Given the description of an element on the screen output the (x, y) to click on. 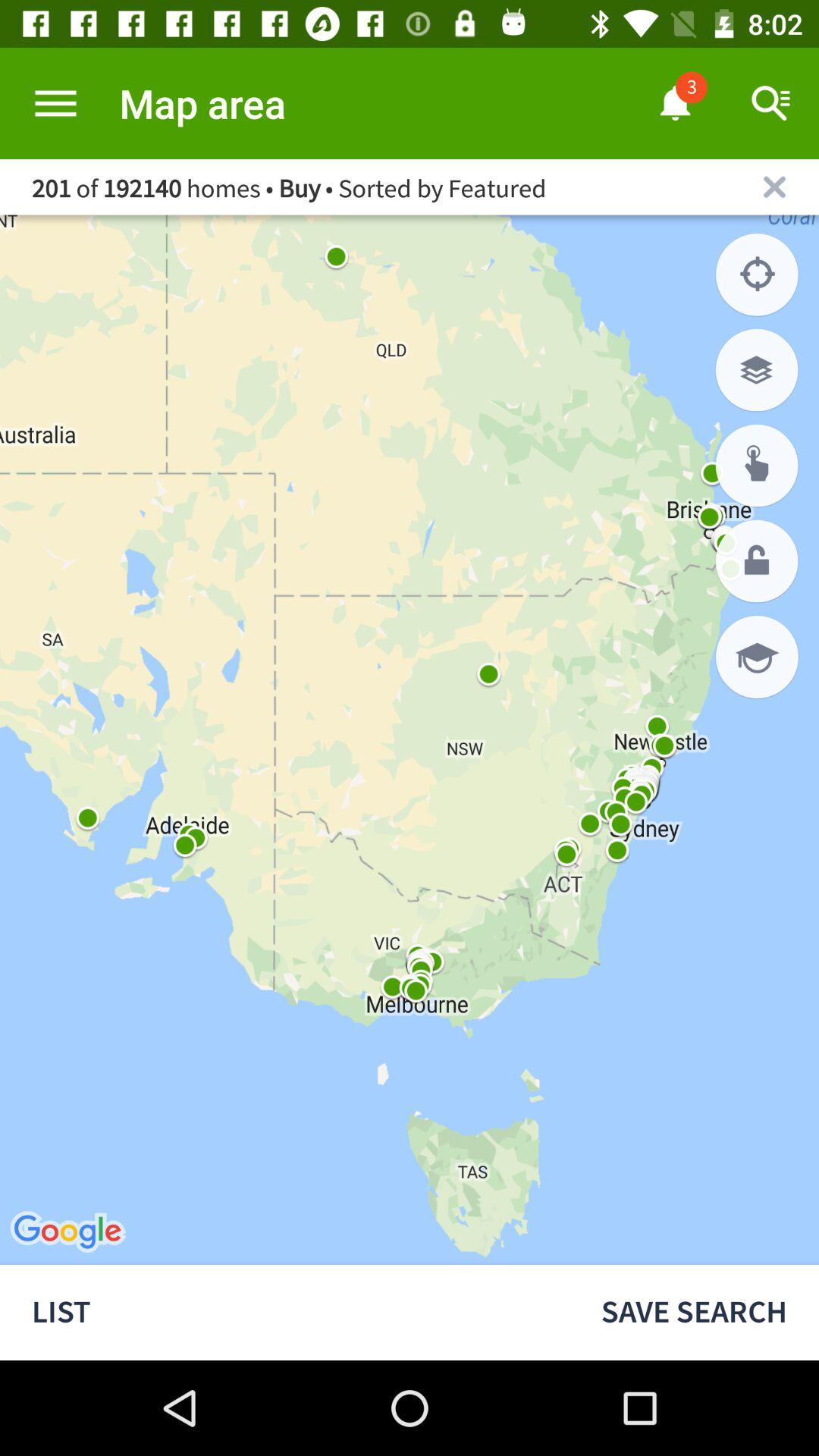
tap the icon to the right of 201 of 192140 item (774, 186)
